Given the description of an element on the screen output the (x, y) to click on. 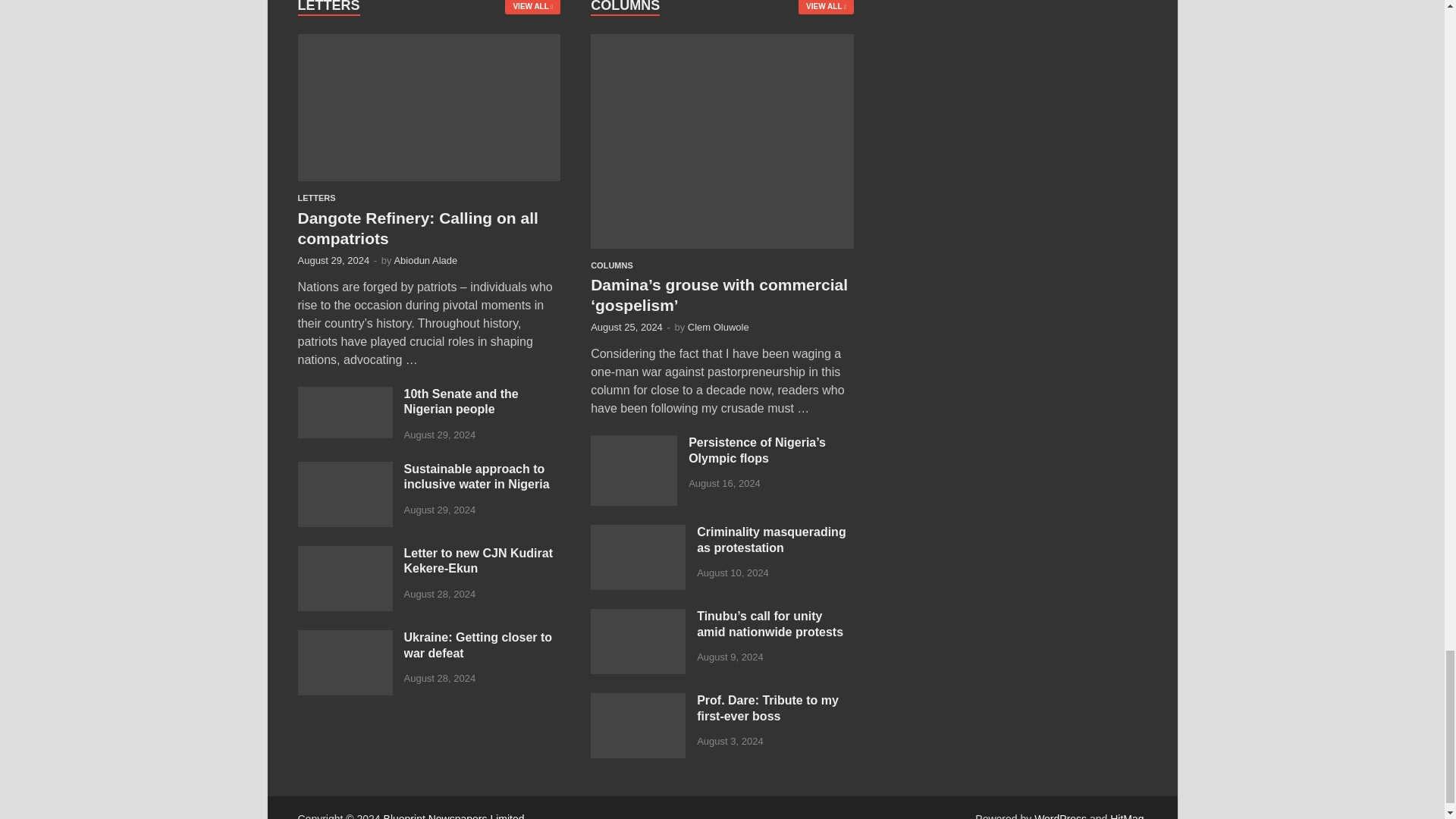
Ukraine: Getting closer to war defeat (344, 638)
Dangote Refinery: Calling on all compatriots (428, 42)
Letter to new CJN Kudirat Kekere-Ekun (344, 554)
10th Senate and the Nigerian people (344, 395)
Sustainable approach to inclusive water in Nigeria (344, 470)
